Given the description of an element on the screen output the (x, y) to click on. 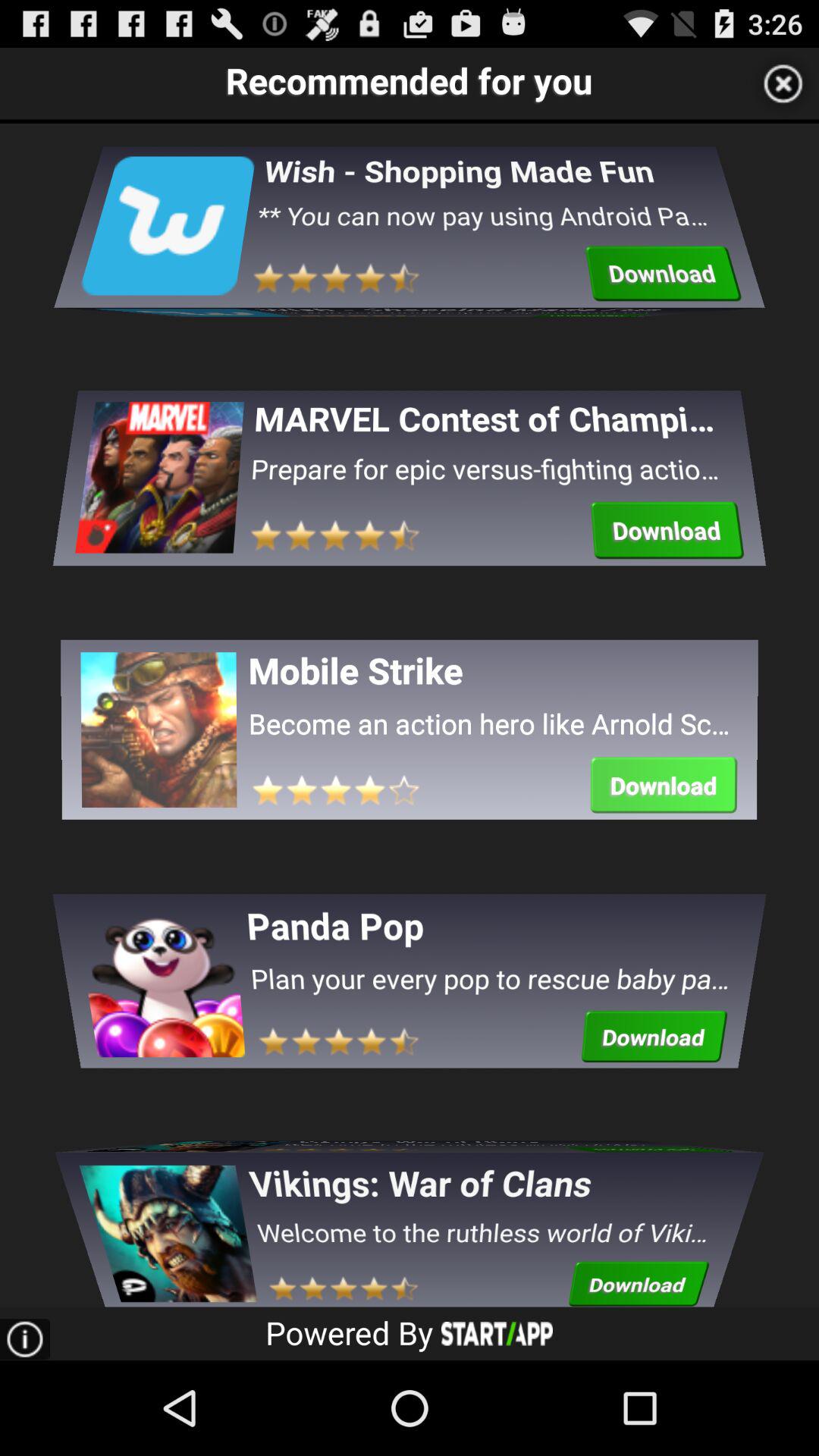
turn off item next to recommended for you app (783, 83)
